Given the description of an element on the screen output the (x, y) to click on. 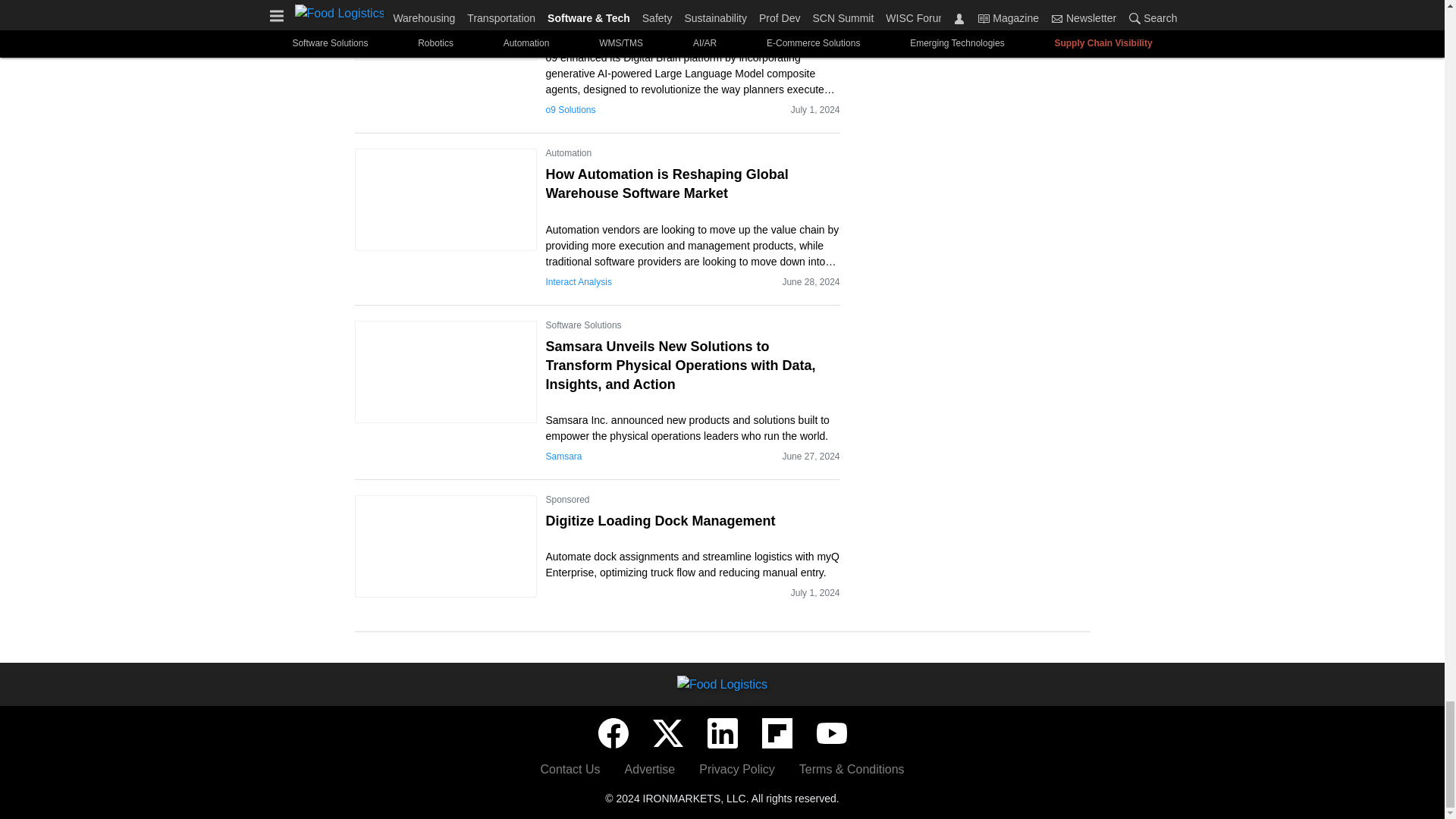
YouTube icon (830, 733)
LinkedIn icon (721, 733)
Flipboard icon (776, 733)
Facebook icon (611, 733)
Twitter X icon (667, 733)
